Given the description of an element on the screen output the (x, y) to click on. 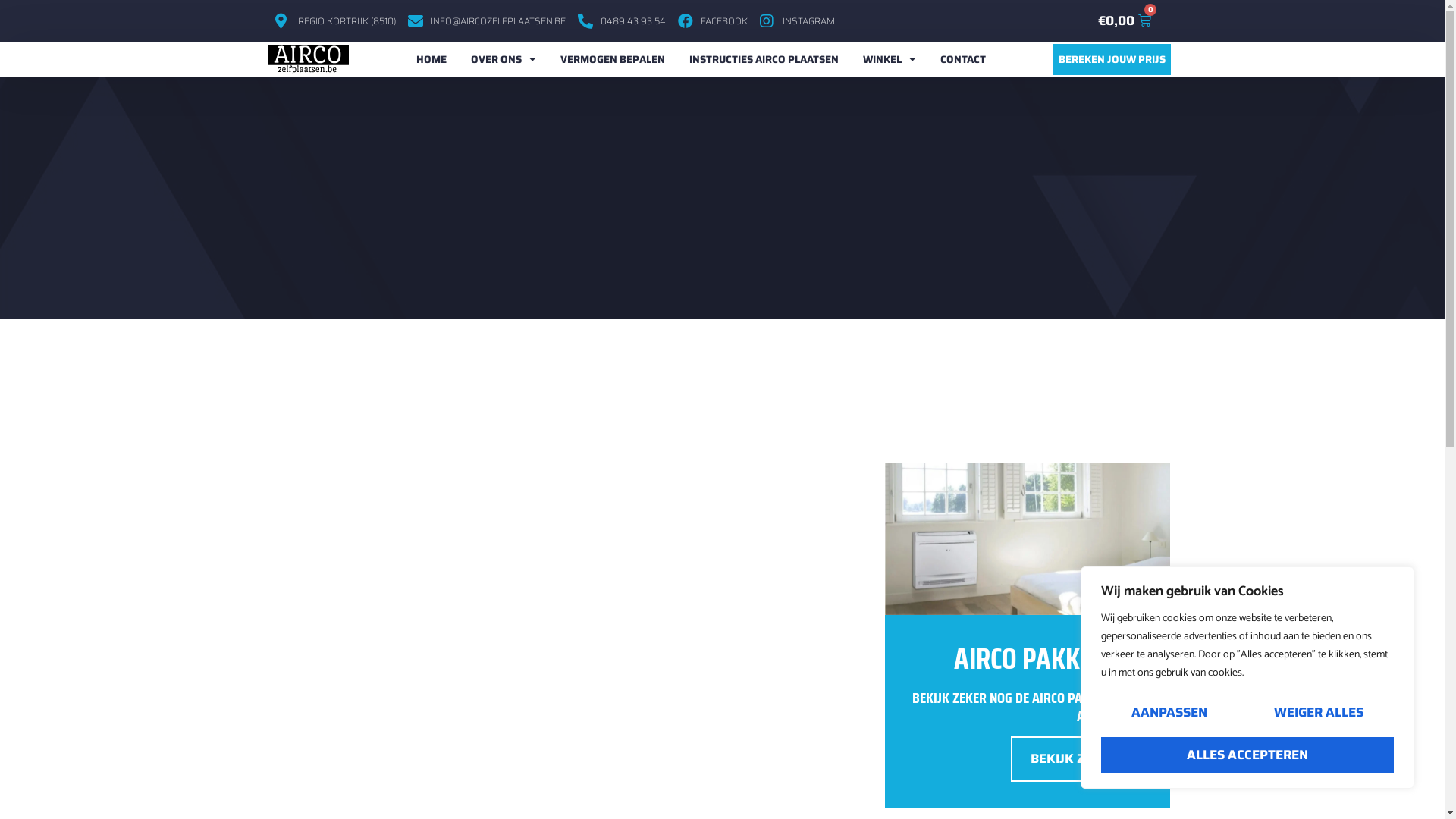
WINKEL Element type: text (889, 59)
INSTAGRAM Element type: text (796, 21)
FACEBOOK Element type: text (712, 21)
BEKIJK ZE HIER Element type: text (1076, 758)
BEREKEN JOUW PRIJS Element type: text (1111, 59)
VERMOGEN BEPALEN Element type: text (612, 59)
CONTACT Element type: text (962, 59)
OVER ONS Element type: text (503, 59)
ALLES ACCEPTEREN Element type: text (1247, 755)
INSTRUCTIES AIRCO PLAATSEN Element type: text (763, 59)
AANPASSEN Element type: text (1169, 712)
HOME Element type: text (431, 59)
WEIGER ALLES Element type: text (1318, 712)
